Given the description of an element on the screen output the (x, y) to click on. 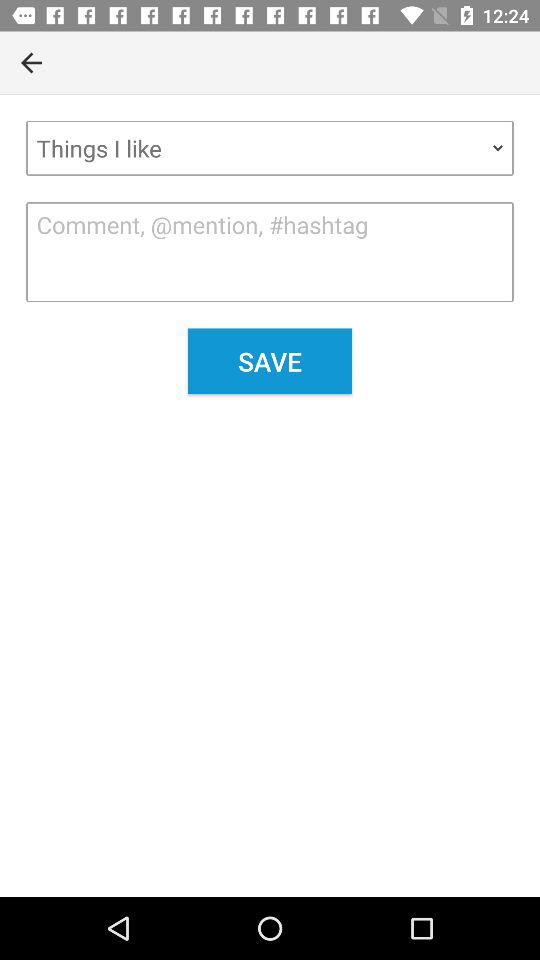
select the item above the save (269, 252)
